Given the description of an element on the screen output the (x, y) to click on. 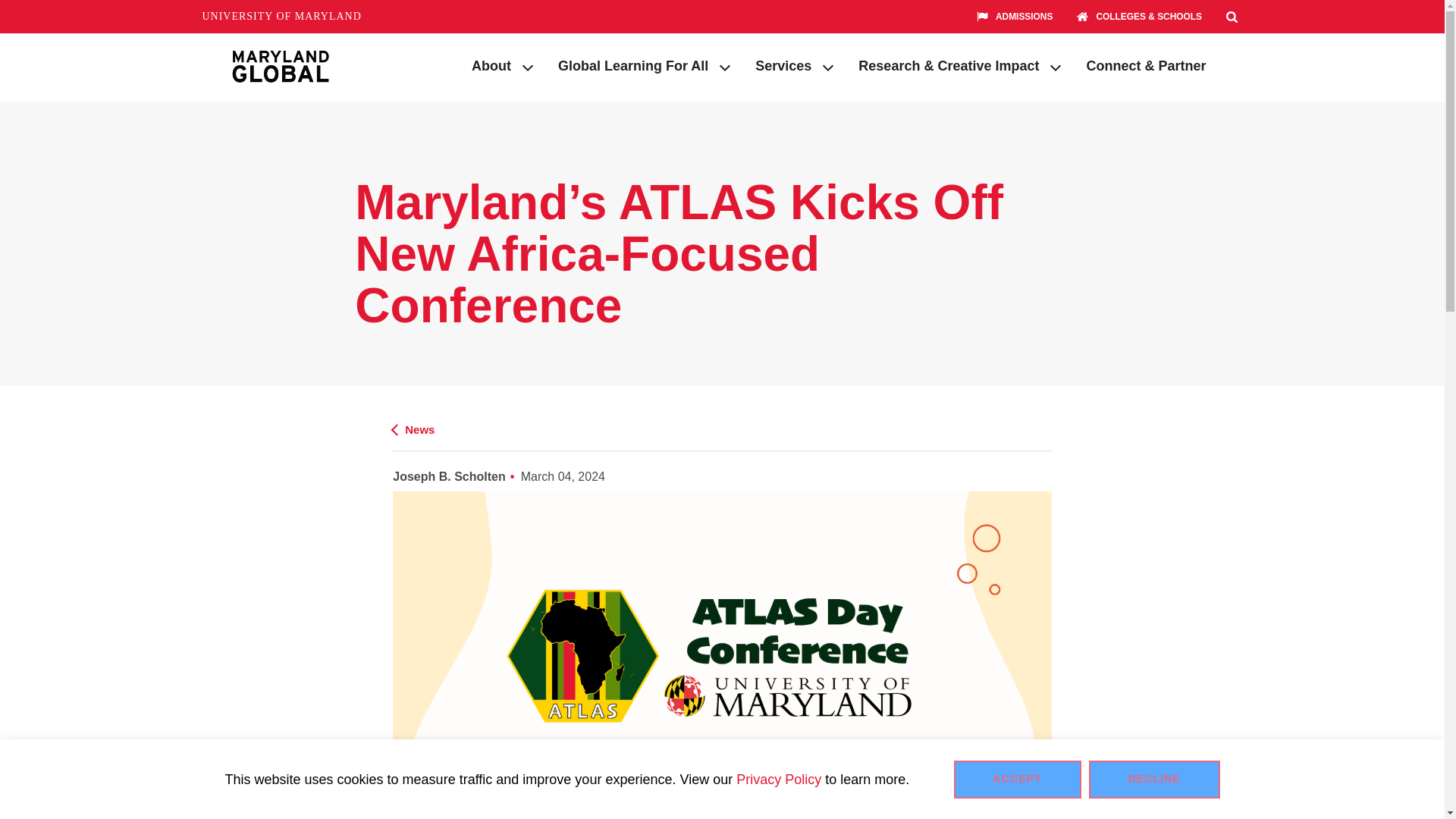
Search (1232, 16)
FLAG (985, 16)
SCHOOL (1086, 16)
FLAGADMISSIONS (1013, 16)
UNIVERSITY OF MARYLAND (281, 16)
Submit (1195, 48)
Services (775, 66)
Global Learning For All (625, 66)
About (484, 66)
